Given the description of an element on the screen output the (x, y) to click on. 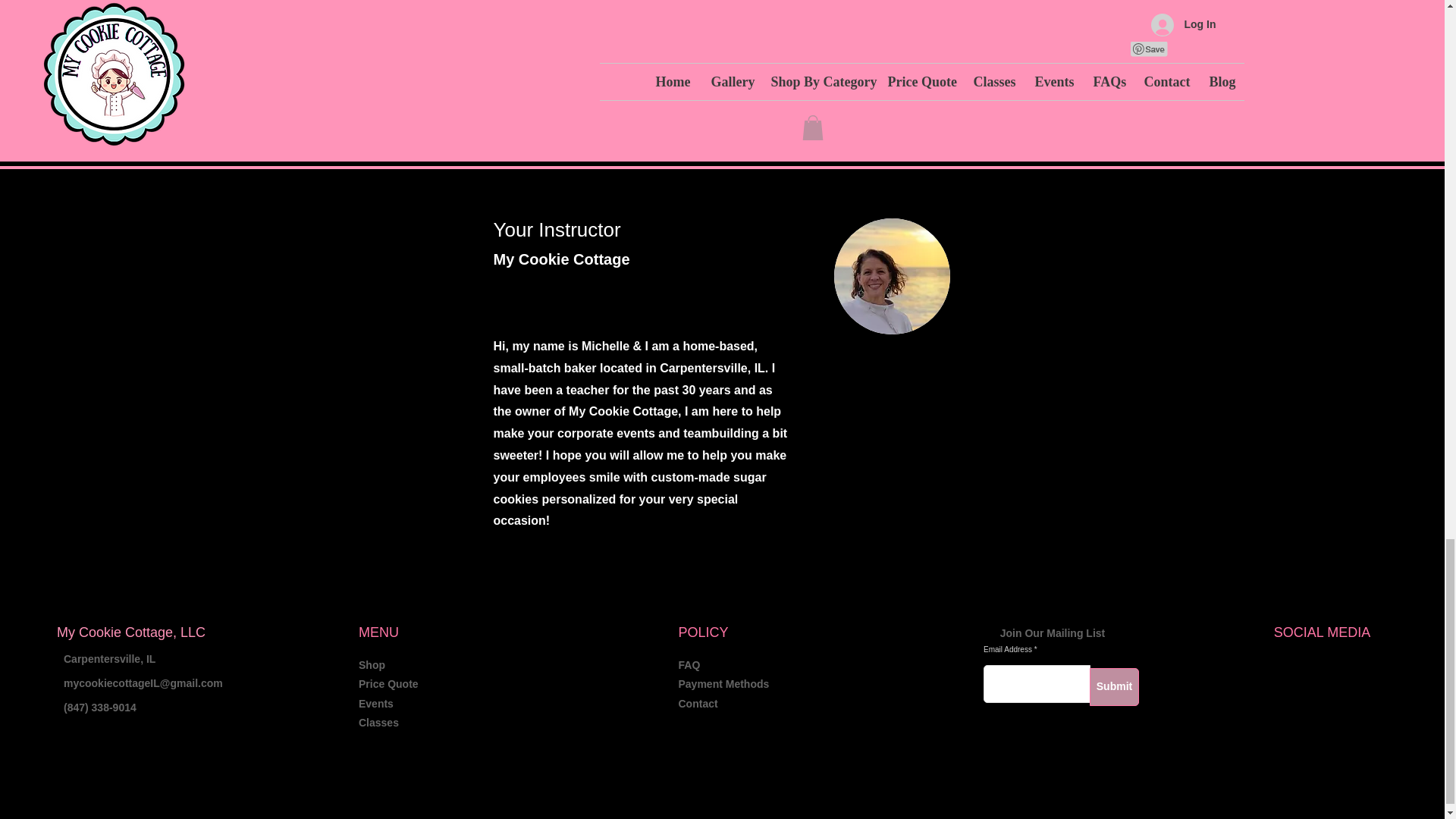
Price Quote (388, 684)
Classes (378, 722)
Events (375, 703)
Submit (1113, 686)
Contact (697, 703)
FAQ (689, 664)
